Given the description of an element on the screen output the (x, y) to click on. 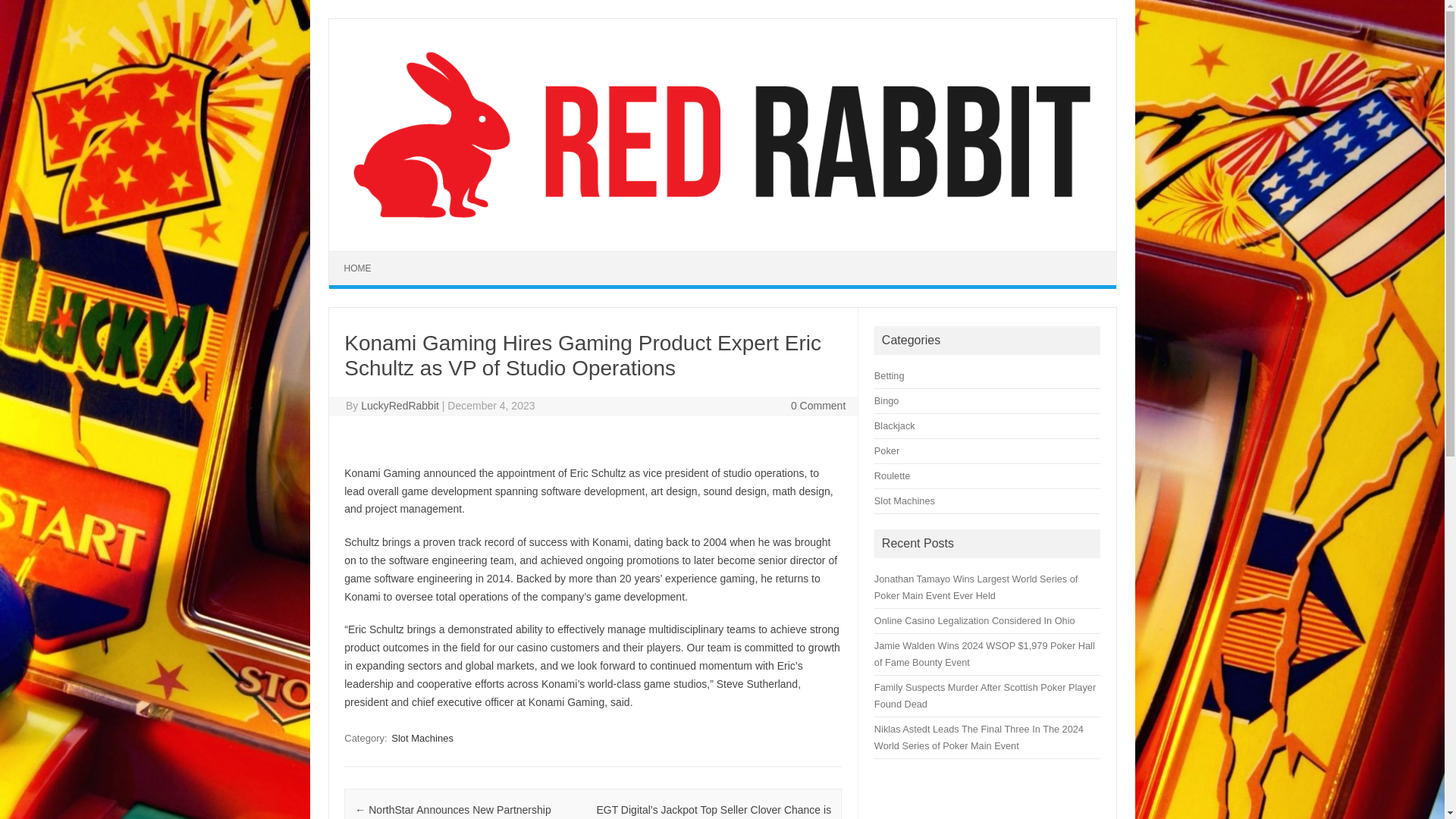
HOME (358, 268)
Betting (889, 375)
Skip to content (363, 255)
Slot Machines (904, 500)
Bingo (887, 400)
Posts by LuckyRedRabbit (400, 405)
0 Comment (817, 405)
Online Casino Legalization Considered In Ohio (975, 620)
Blackjack (895, 425)
Slot Machines (422, 738)
Roulette (892, 475)
Poker (887, 450)
